Given the description of an element on the screen output the (x, y) to click on. 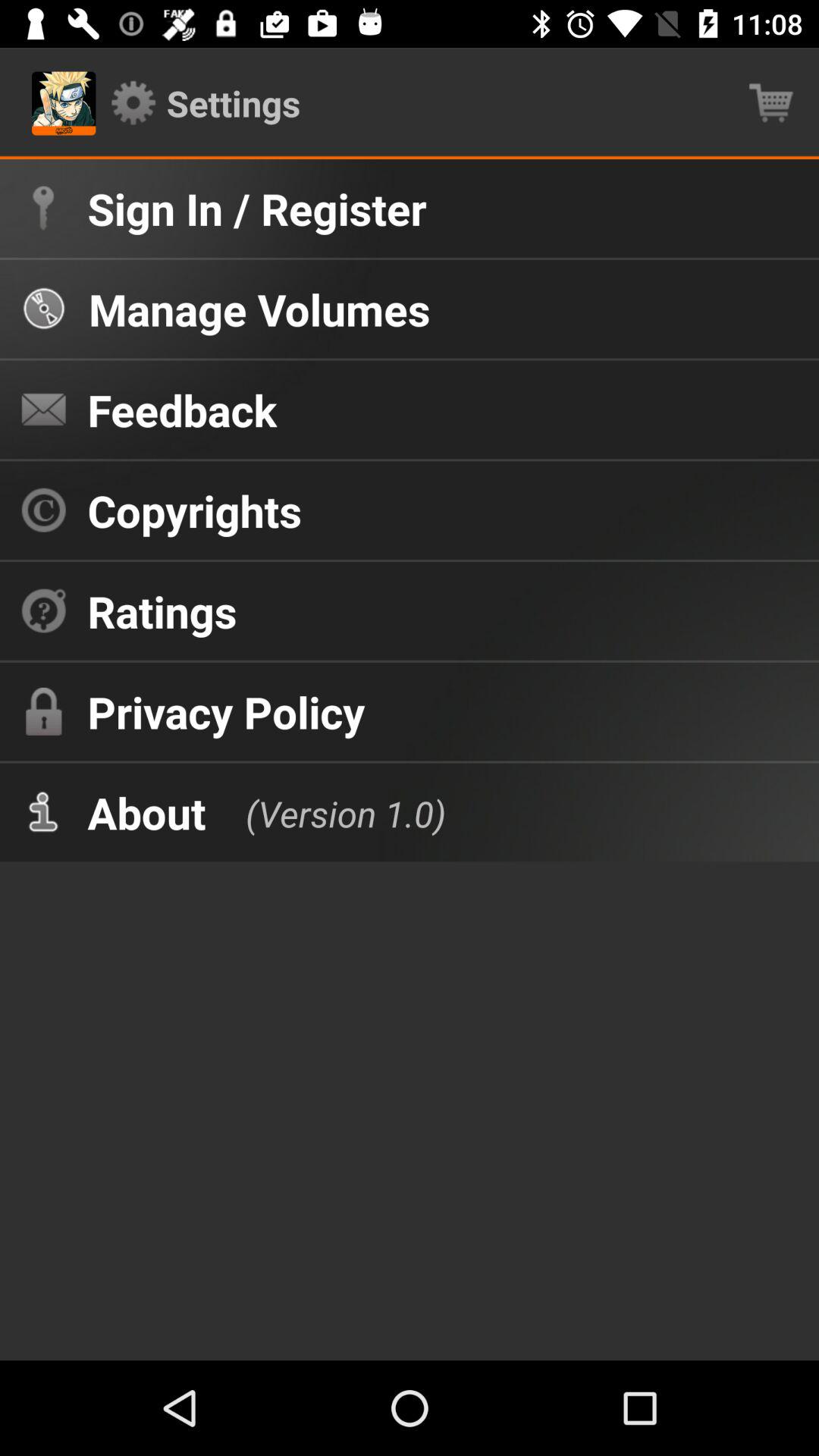
tap the (version 1.0)  at the center (330, 812)
